Given the description of an element on the screen output the (x, y) to click on. 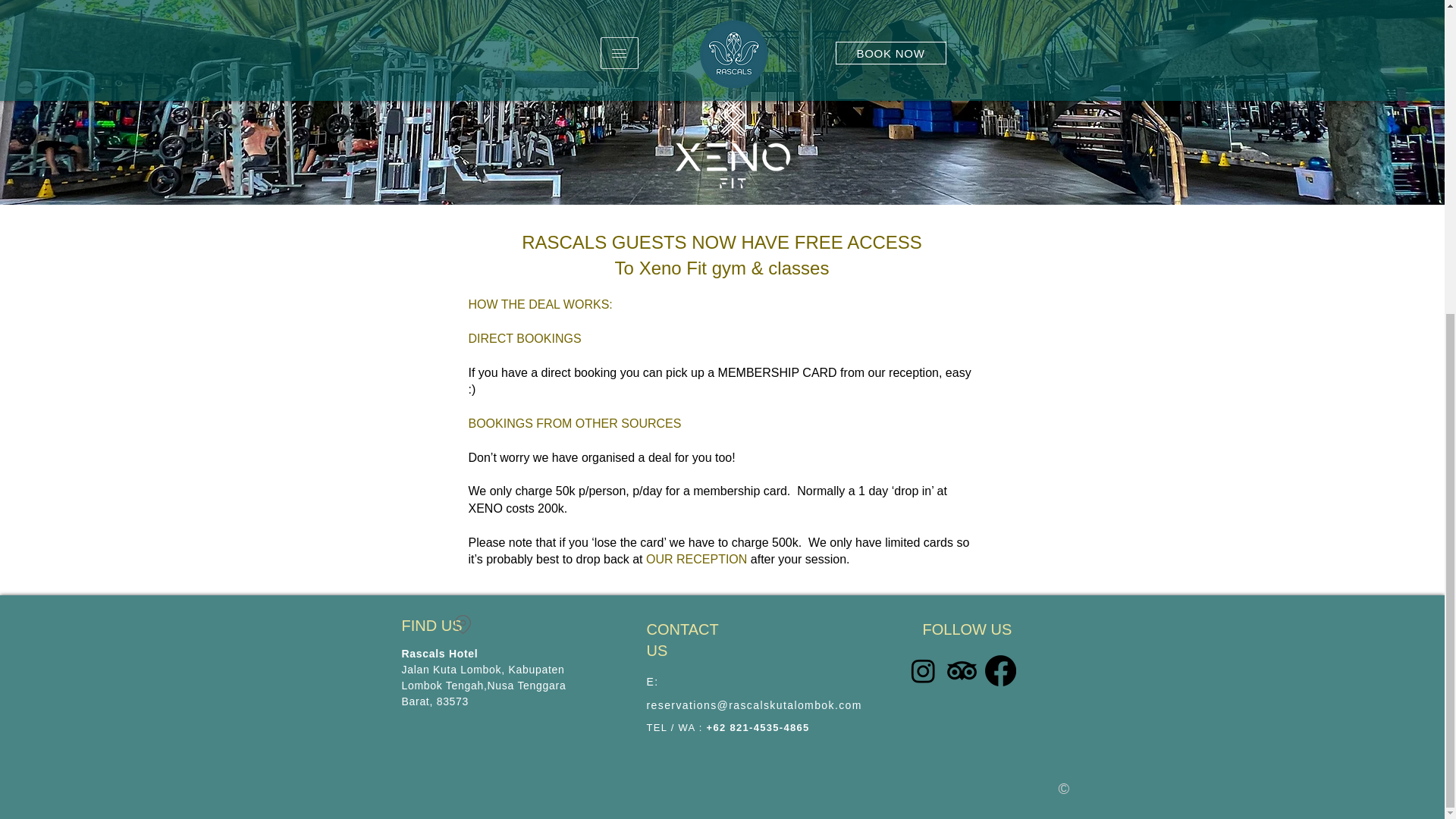
21-4535-4865 (772, 727)
